Given the description of an element on the screen output the (x, y) to click on. 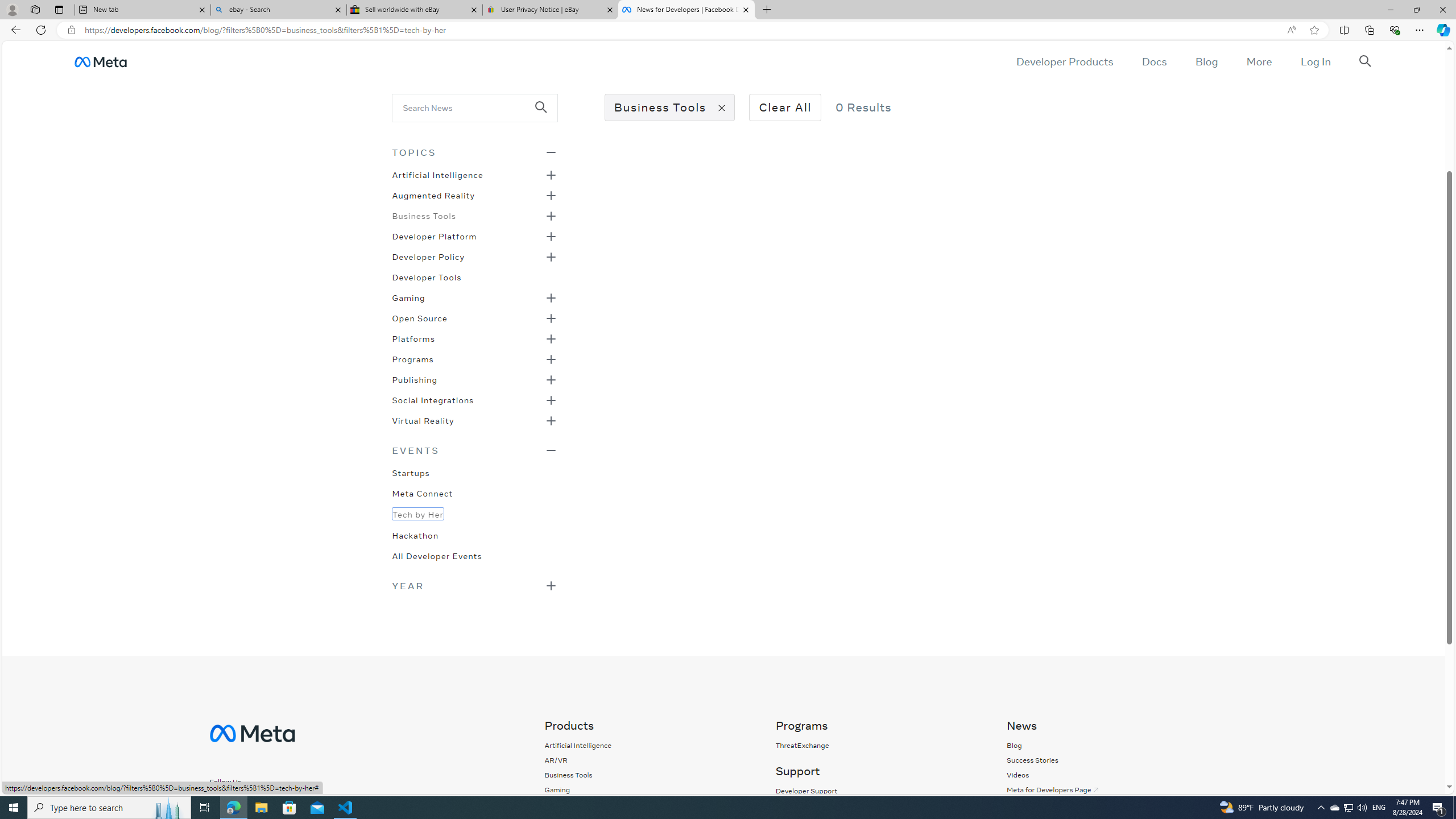
Success Stories (1032, 759)
AutomationID: u_0_4z_2S (100, 61)
Gaming (577, 789)
Developer Products (1064, 61)
Gaming (408, 296)
Social Integrations (432, 399)
Programs (412, 358)
Hackathon (415, 534)
News for Developers | Facebook Developers (685, 9)
Docs (1153, 61)
ThreatExchange (878, 744)
Class: _8_jq (264, 801)
Class: _98ex (474, 559)
